Given the description of an element on the screen output the (x, y) to click on. 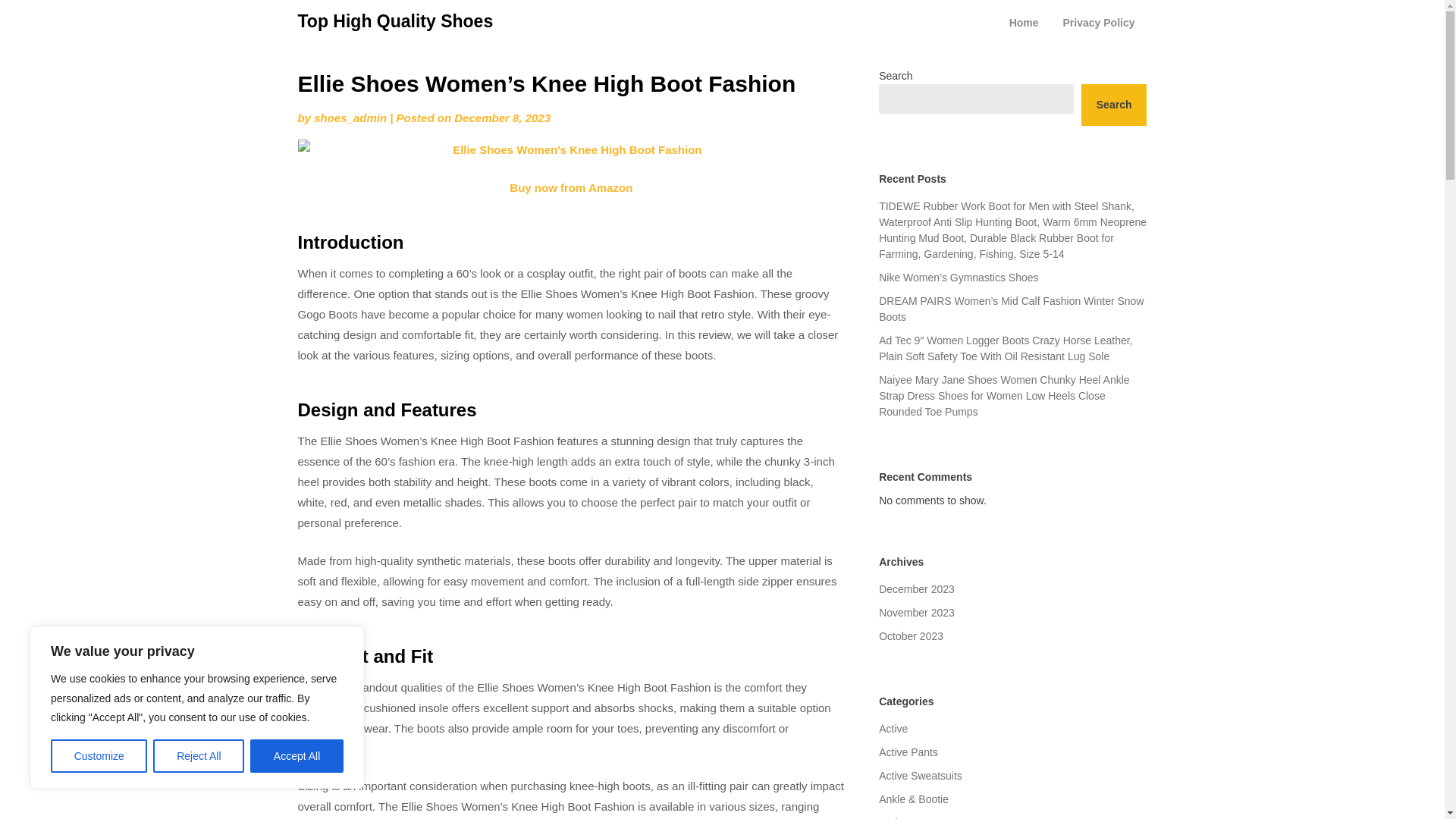
December 8, 2023 (502, 117)
October 2023 (911, 635)
November 2023 (917, 612)
December 2023 (917, 589)
Active Pants (908, 752)
Accept All (296, 756)
Buy now from Amazon (570, 187)
Customize (98, 756)
